Given the description of an element on the screen output the (x, y) to click on. 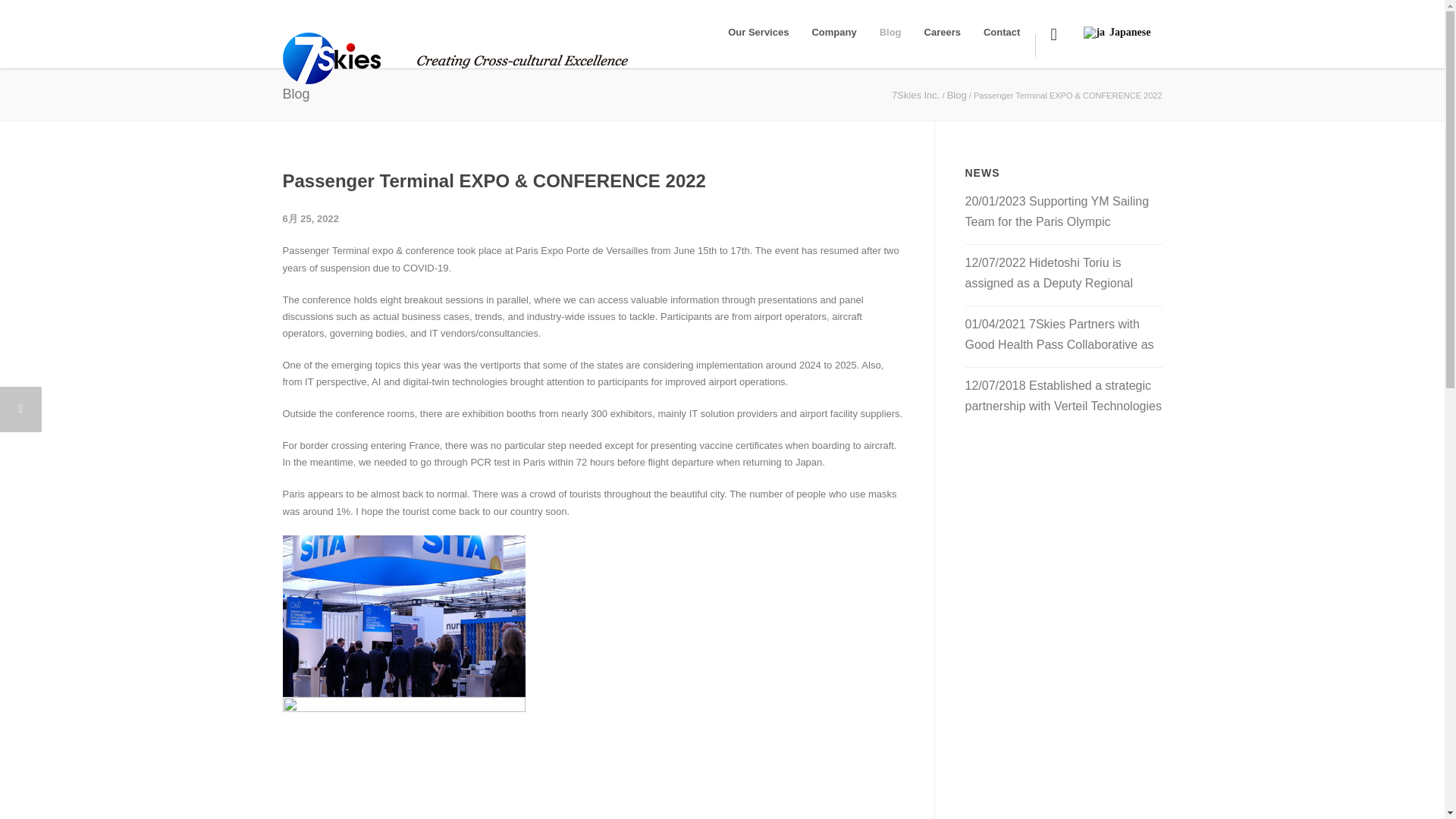
7Skies Inc. (915, 94)
Japanese (1114, 19)
japanese (1093, 32)
Our Services (757, 32)
Careers (942, 32)
Blog (956, 94)
Company (833, 32)
Blog (889, 32)
Contact (1001, 32)
